Given the description of an element on the screen output the (x, y) to click on. 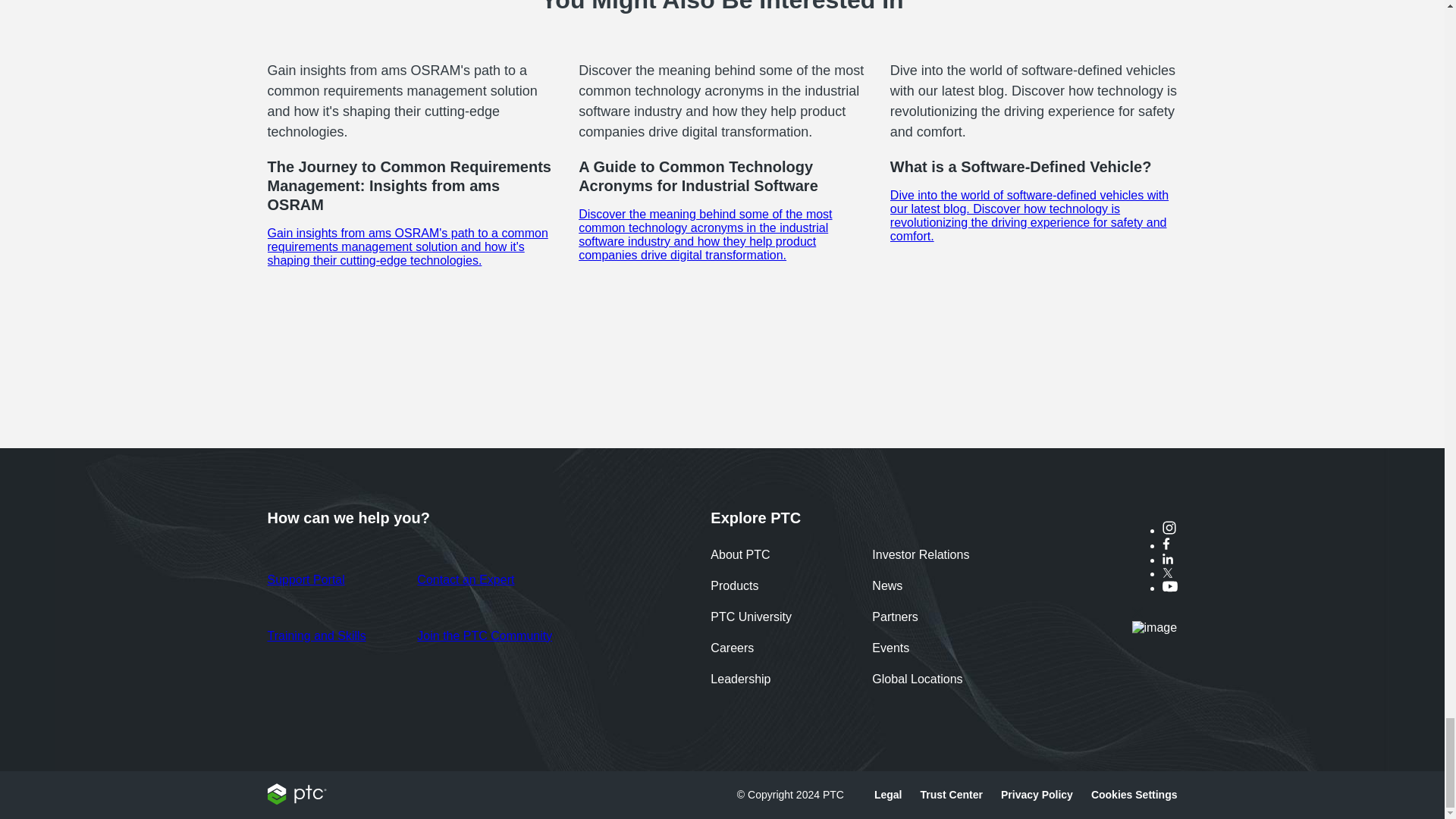
PTC (296, 800)
PTC University (751, 618)
Privacy Policy (1037, 794)
Leadership (740, 681)
News (887, 587)
Events (890, 649)
Investor Relations (920, 557)
PTC University (751, 618)
Products (734, 587)
About PTC (740, 557)
Leadership (740, 681)
Careers (732, 649)
Investor Relations (920, 557)
Events (890, 649)
Products (734, 587)
